Given the description of an element on the screen output the (x, y) to click on. 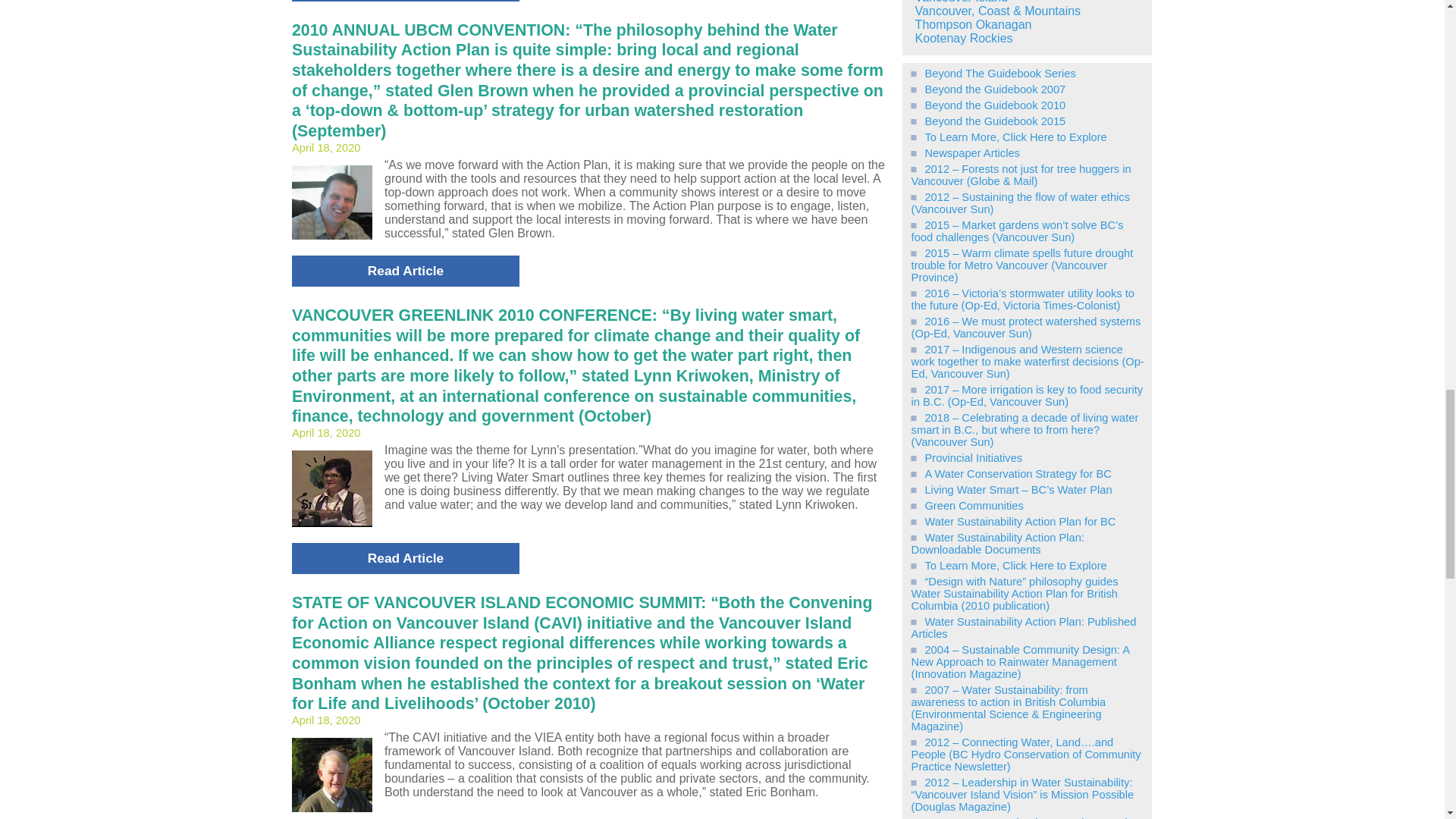
Read Article (405, 558)
Read Article (405, 270)
